Given the description of an element on the screen output the (x, y) to click on. 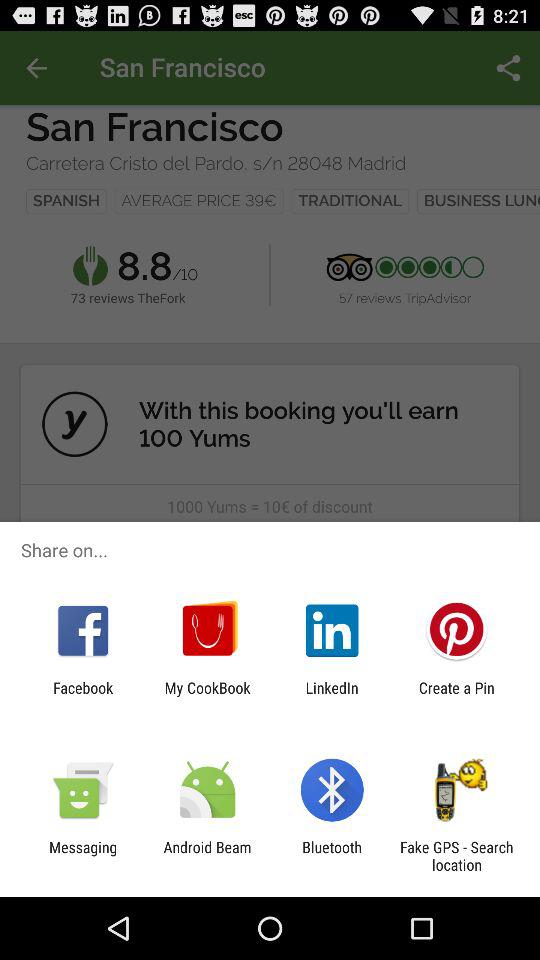
open icon to the left of bluetooth item (207, 856)
